Given the description of an element on the screen output the (x, y) to click on. 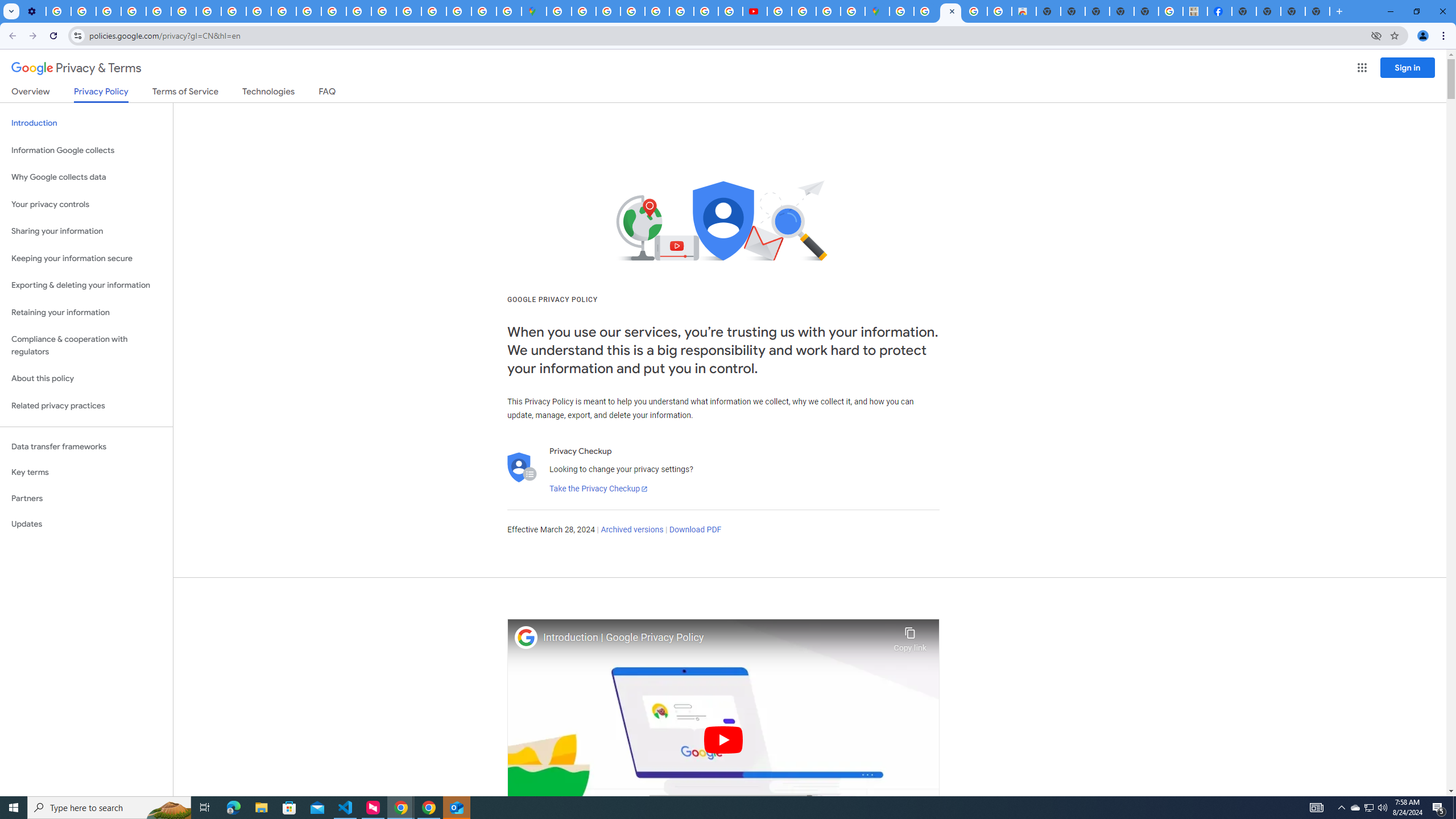
Take the Privacy Checkup (597, 488)
Miley Cyrus | Facebook (1219, 11)
Play (723, 739)
